Given the description of an element on the screen output the (x, y) to click on. 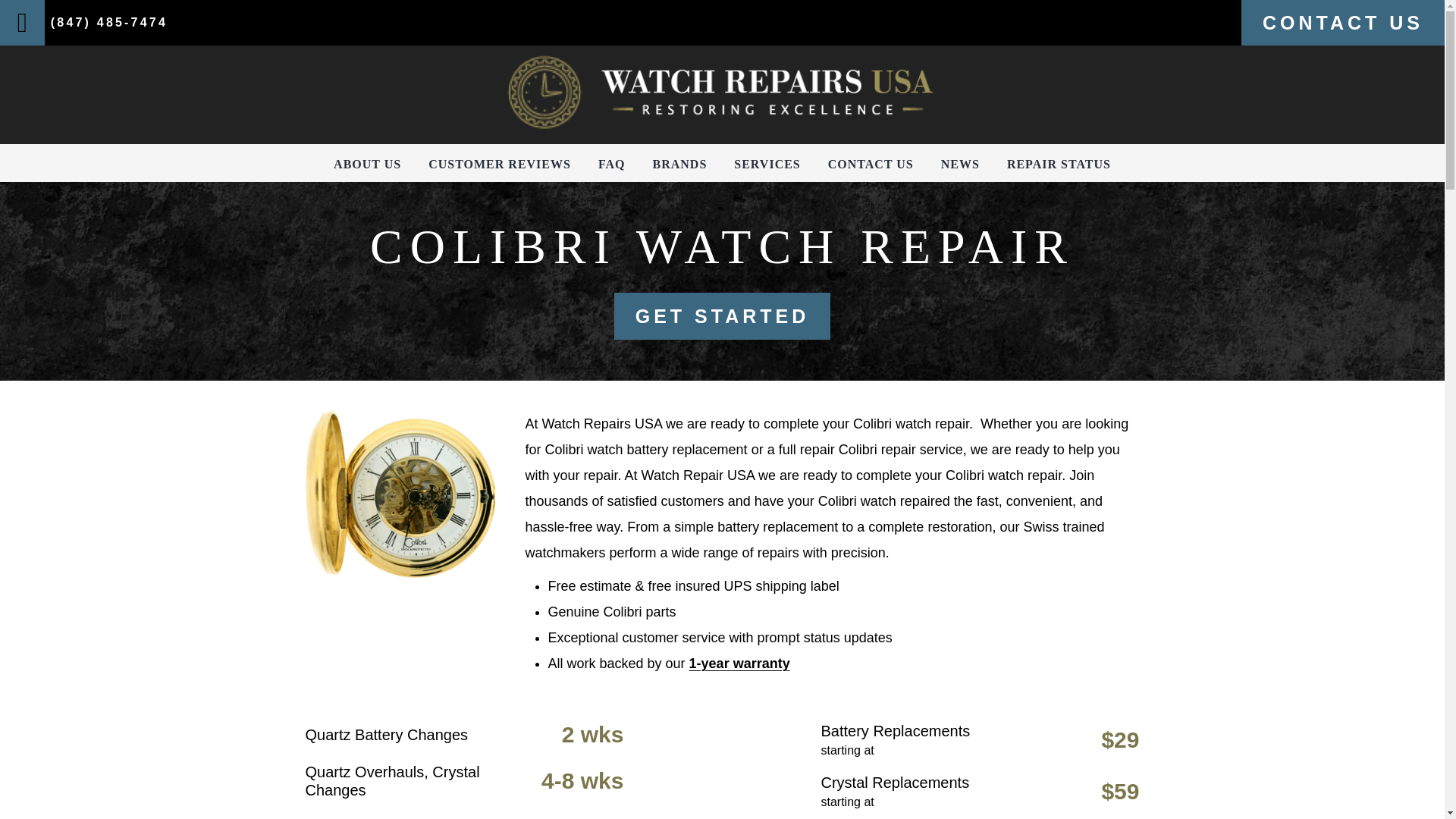
1-year warranty (739, 663)
REPAIR STATUS (1058, 163)
FAQ (612, 163)
ABOUT US (367, 163)
NEWS (959, 163)
GET STARTED (722, 315)
CONTACT US (871, 163)
SERVICES (766, 163)
CUSTOMER REVIEWS (499, 163)
BRANDS (679, 163)
